Given the description of an element on the screen output the (x, y) to click on. 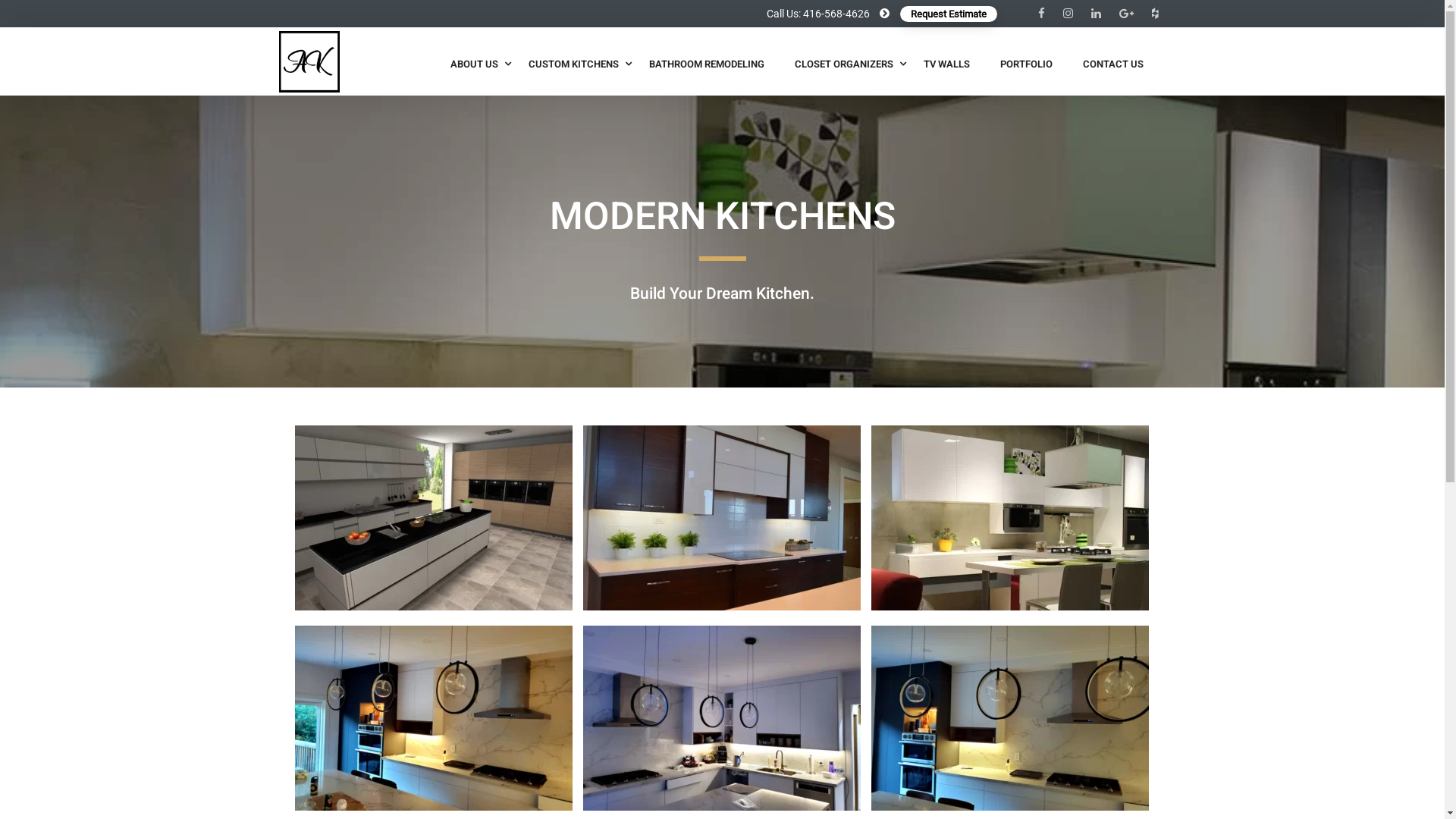
CLOSET ORGANIZERS Element type: text (843, 63)
custom-modern-kitchen-design-richmond-hill Element type: hover (721, 717)
Subscribe Element type: text (1054, 701)
CONTACT US Element type: text (1113, 63)
Hiring Element type: text (346, 683)
info@ariakitchens.ca Element type: text (585, 634)
modern-contemporary-kitchen-richmond-hill Element type: hover (434, 717)
Custom Kitchens Element type: text (797, 564)
custom-modern-kitchen-design-richmond-hill Element type: hover (721, 717)
custom-kitchen-richmond-hill Element type: hover (1009, 717)
TV WALLS Element type: text (946, 63)
Call Us: 416-568-4626 Element type: text (818, 13)
PORTFOLIO Element type: text (1025, 63)
Millwork Partnership Element type: text (807, 664)
Entertainment Units Element type: text (804, 639)
ABOUT US Element type: text (473, 63)
CUSTOM KITCHENS Element type: text (572, 63)
Closet Organizers Element type: text (799, 589)
Request Estimate Element type: text (947, 13)
custom-kitchen-richmond-hill Element type: hover (1009, 717)
Bathroom Cabinets Element type: text (803, 614)
BATHROOM REMODELING Element type: text (706, 63)
416-568-4626 Element type: text (564, 608)
modern-contemporary-kitchen-richmond-hill Element type: hover (433, 717)
